Given the description of an element on the screen output the (x, y) to click on. 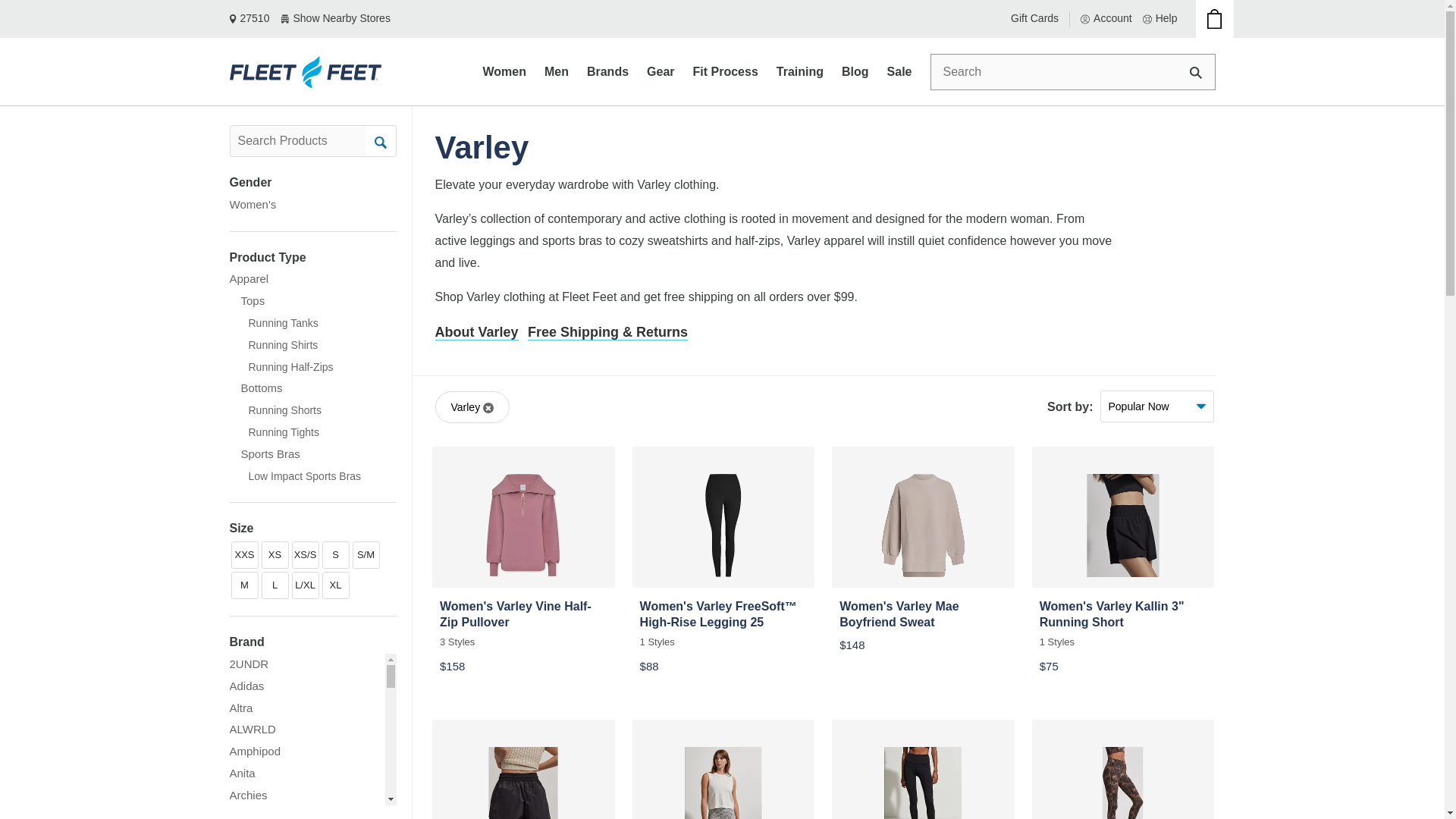
Type: Tops (246, 300)
Gender: Women's (252, 203)
Size: S (335, 554)
Size: XL (335, 584)
Size: XS (274, 554)
Size: L (274, 584)
Type: Apparel (247, 278)
Size: XXS (243, 554)
Type: Running Shorts (274, 410)
Type: Running Tights (273, 432)
Size: M (243, 584)
Type: Running Shirts (272, 344)
Type: Running Half-Zips (280, 366)
Type: Sports Bras (263, 453)
Type: Running Tanks (272, 322)
